Given the description of an element on the screen output the (x, y) to click on. 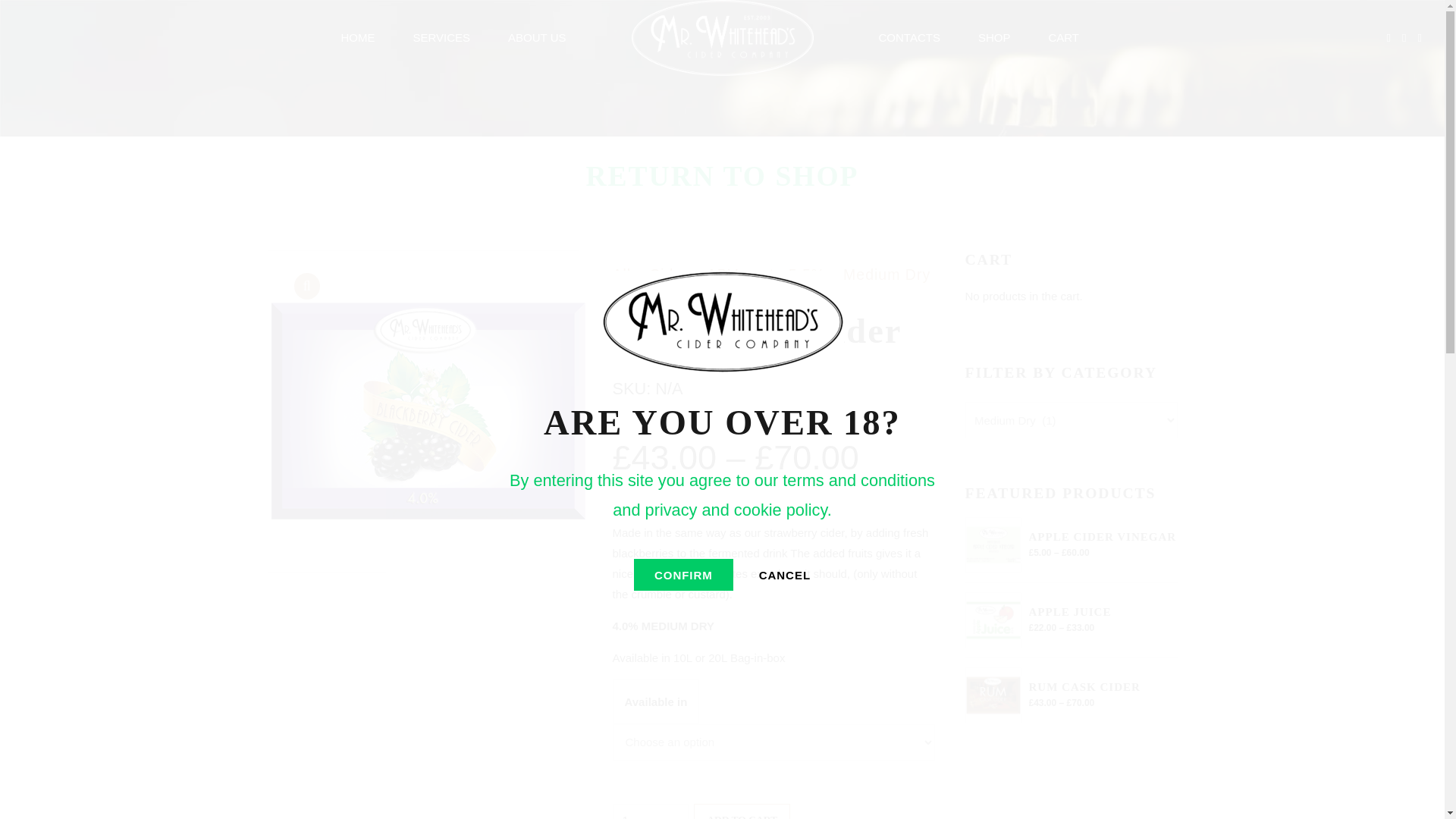
Qty (650, 811)
Medium Dry (877, 274)
All (621, 274)
ADD TO CART (742, 811)
RETURN TO SHOP (722, 175)
Cider (659, 274)
1 (650, 811)
